Given the description of an element on the screen output the (x, y) to click on. 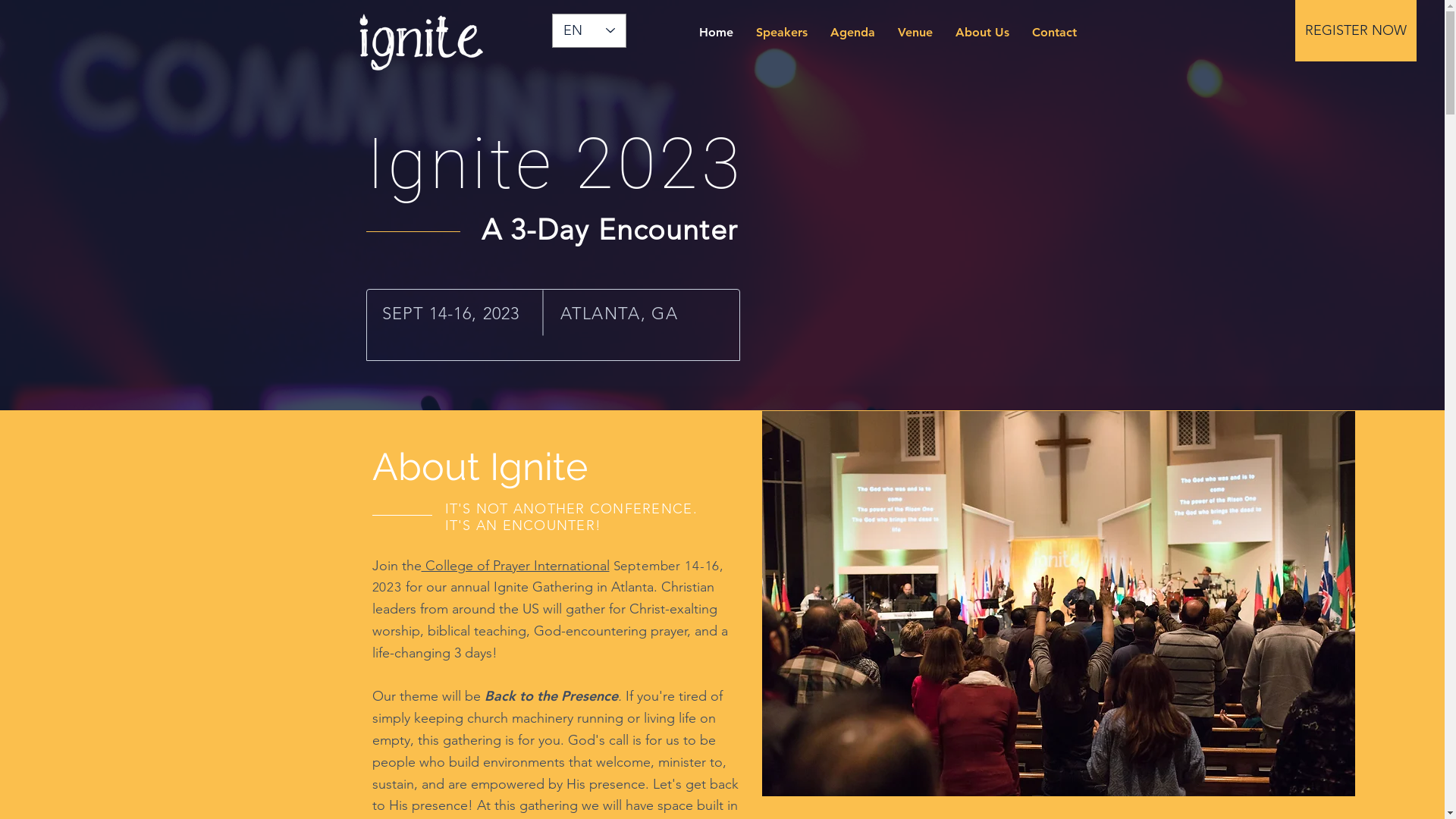
REGISTER NOW Element type: text (1355, 30)
Contact Element type: text (1054, 32)
Agenda Element type: text (852, 32)
Venue Element type: text (914, 32)
College of Prayer International Element type: text (515, 565)
iGNITE 2018 Pic1-LoRes.jpg Element type: hover (1057, 603)
About Us Element type: text (981, 32)
Speakers Element type: text (781, 32)
Home Element type: text (715, 32)
